Given the description of an element on the screen output the (x, y) to click on. 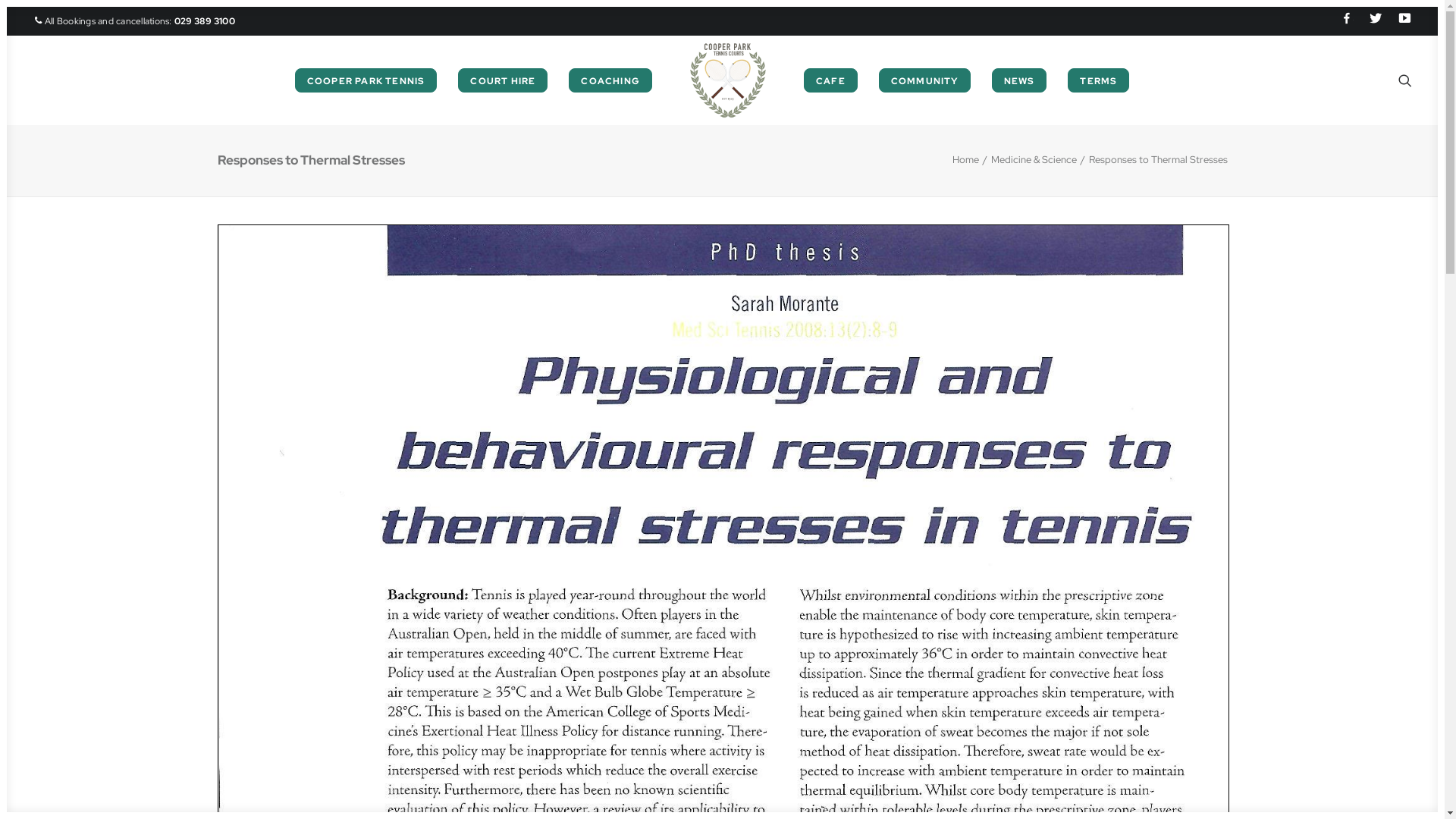
COURT HIRE Element type: text (502, 80)
COACHING Element type: text (610, 80)
Youtube Element type: text (1400, 19)
NEWS Element type: text (1019, 80)
Twitter Element type: text (1374, 19)
CAFE Element type: text (830, 80)
Facebook Element type: text (1348, 19)
COOPER PARK TENNIS Element type: text (366, 80)
COMMUNITY Element type: text (924, 80)
Home Element type: text (965, 159)
TERMS Element type: text (1098, 80)
Medicine & Science Element type: text (1033, 159)
